Given the description of an element on the screen output the (x, y) to click on. 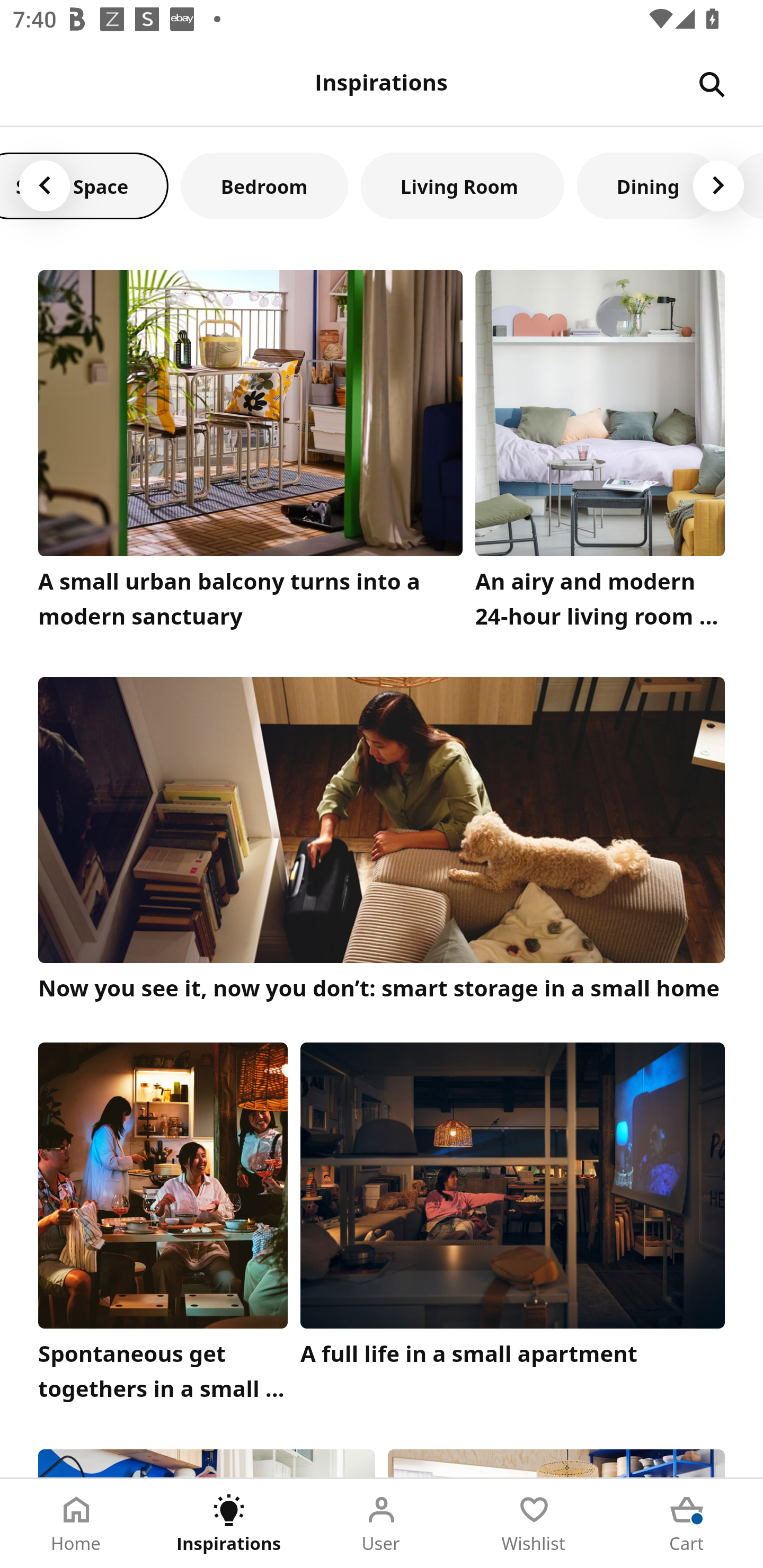
Bedroom (264, 185)
Living Room  (462, 185)
Dining (648, 185)
An airy and modern 24-hour living room oasis (599, 453)
Spontaneous get togethers in a small apartment (162, 1226)
A full life in a small apartment (512, 1226)
Home
Tab 1 of 5 (76, 1522)
Inspirations
Tab 2 of 5 (228, 1522)
User
Tab 3 of 5 (381, 1522)
Wishlist
Tab 4 of 5 (533, 1522)
Cart
Tab 5 of 5 (686, 1522)
